Given the description of an element on the screen output the (x, y) to click on. 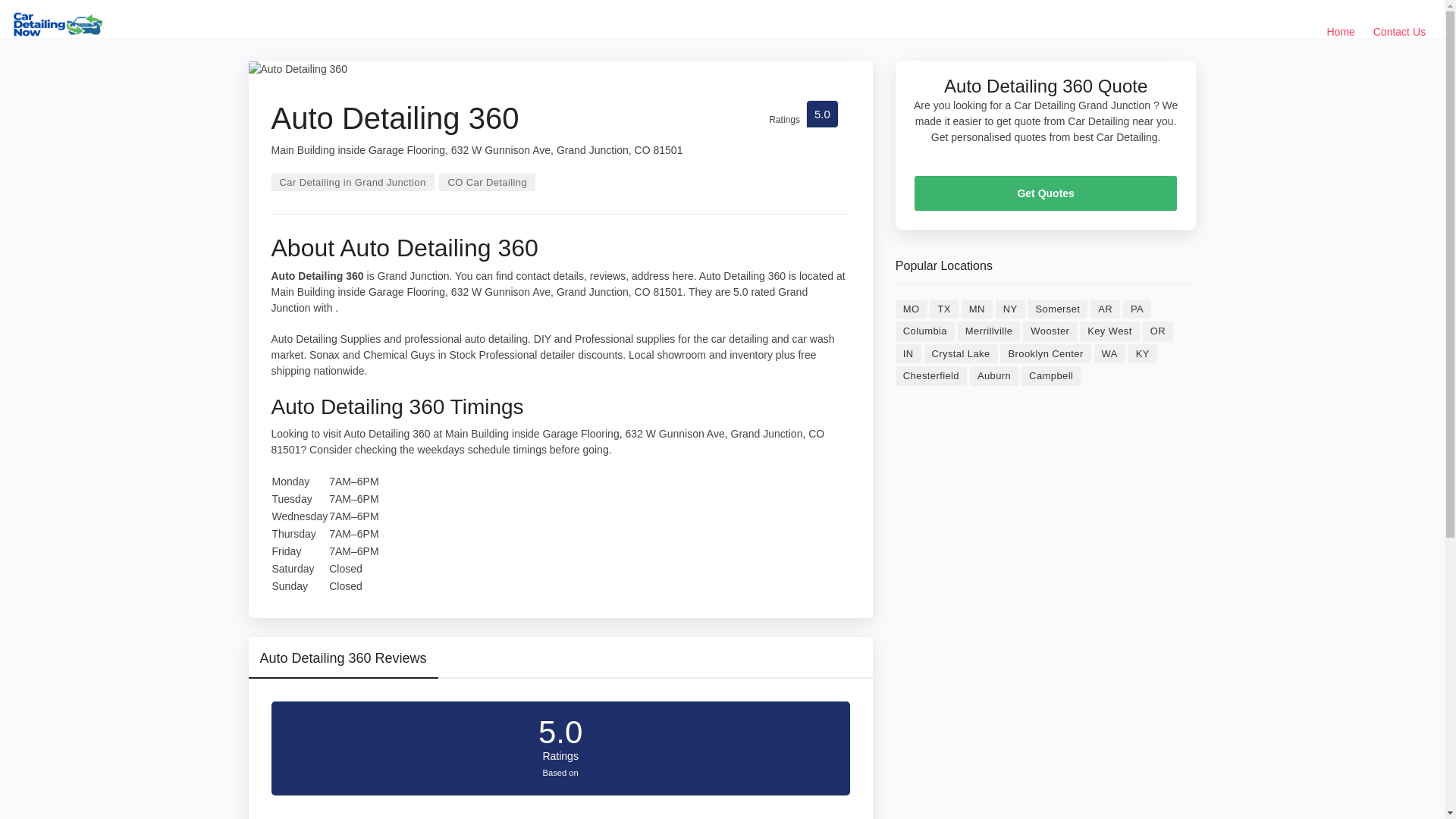
Best Car Detailing in Somerset (1057, 309)
Contact Us (1398, 31)
Auburn (993, 375)
MN (976, 309)
Best Car Detailing in NY (1010, 309)
Auto Detailing 360 Reviews (343, 663)
Campbell (1051, 375)
Best Car Detailing in AR (1104, 309)
Car Detailing in Grand Junction (351, 181)
AR (1104, 309)
